Given the description of an element on the screen output the (x, y) to click on. 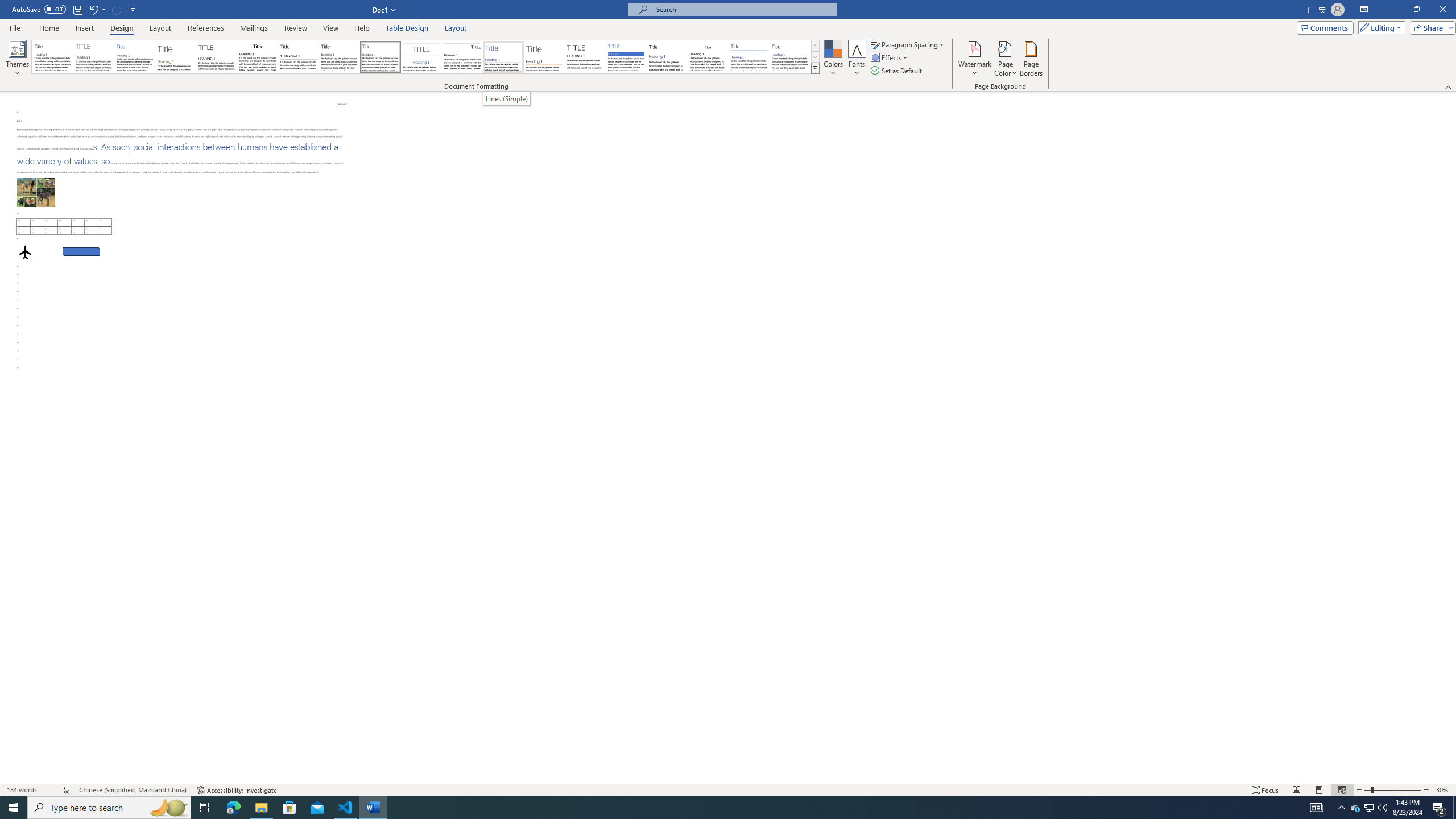
Centered (421, 56)
Lines (Simple) (503, 56)
Rectangle: Diagonal Corners Snipped 2 (81, 243)
Word 2013 (790, 56)
